Given the description of an element on the screen output the (x, y) to click on. 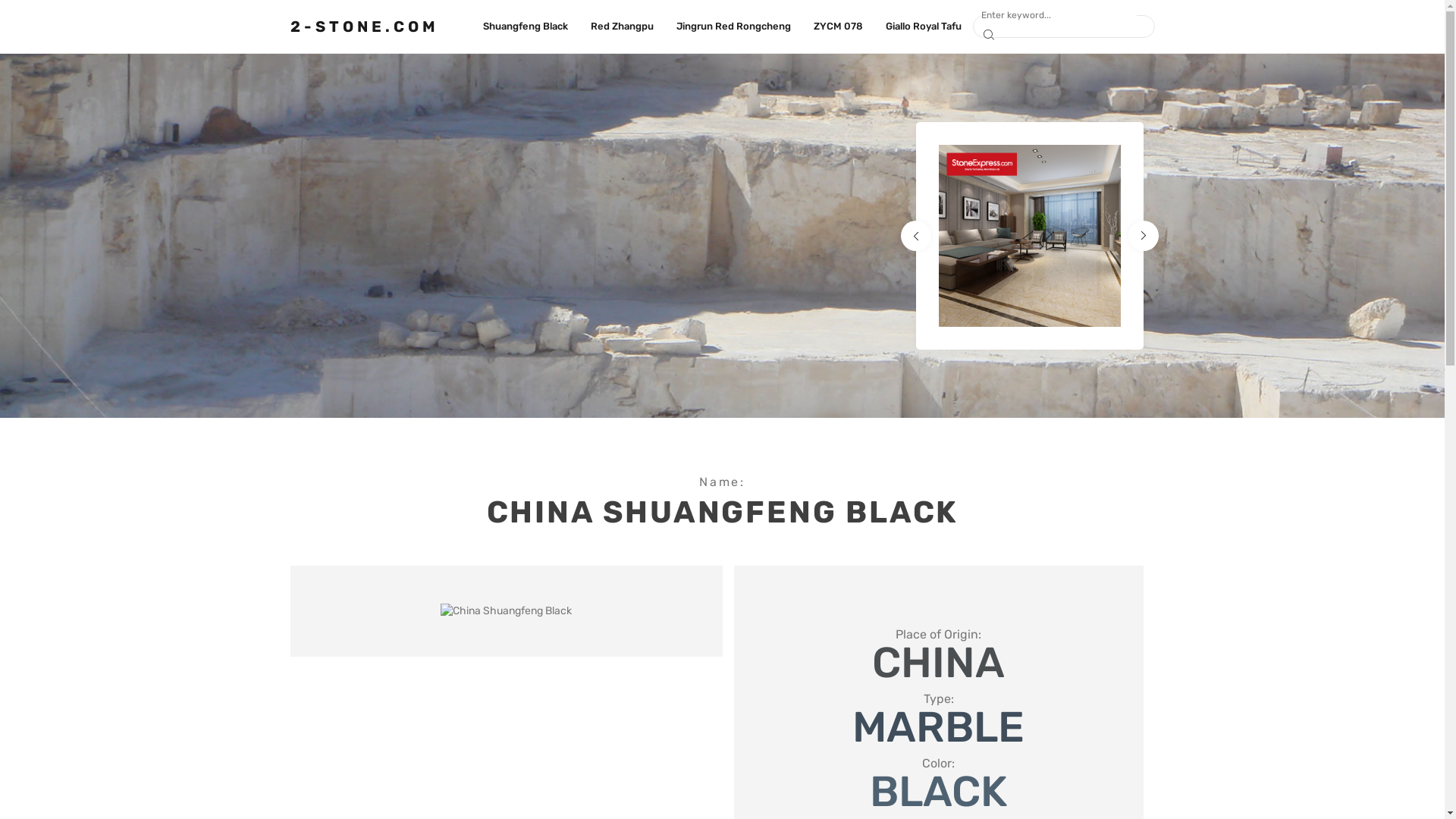
BLACK Element type: text (938, 791)
China Shuangfeng Black Element type: hover (505, 610)
Red Zhangpu Element type: text (621, 26)
2-STONE.COM Element type: text (363, 26)
Giallo Royal Tafu Element type: text (923, 26)
CHINA Element type: text (938, 662)
ZYCM 078 Element type: text (837, 26)
Jingrun Red Rongcheng Element type: text (733, 26)
Shuangfeng Black Element type: text (525, 26)
MARBLE Element type: text (938, 727)
